Given the description of an element on the screen output the (x, y) to click on. 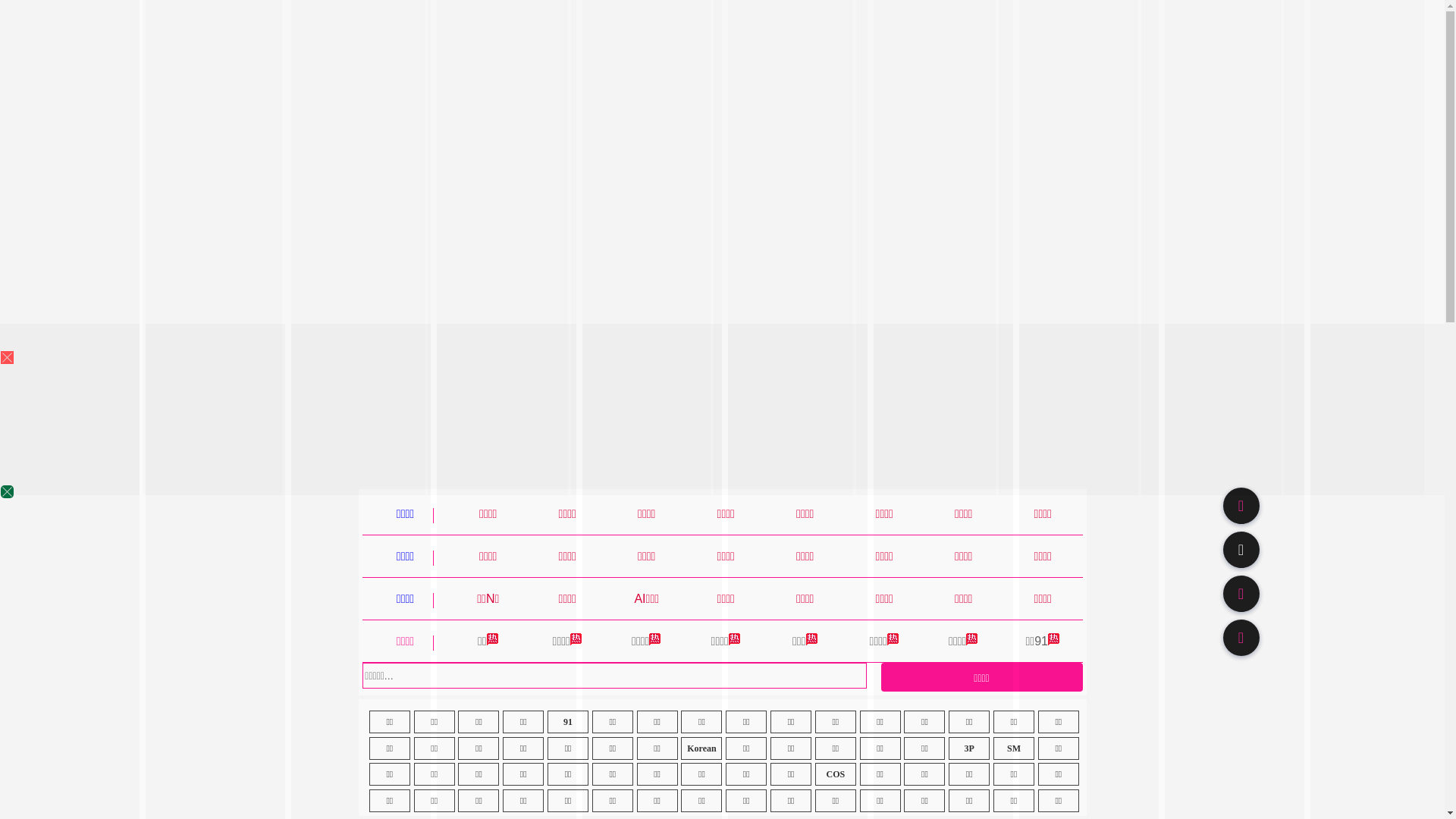
SM Element type: text (1013, 748)
COS Element type: text (835, 773)
91TV Element type: hover (1240, 593)
91 Element type: text (567, 721)
Korean Element type: text (700, 748)
3P Element type: text (968, 748)
